Given the description of an element on the screen output the (x, y) to click on. 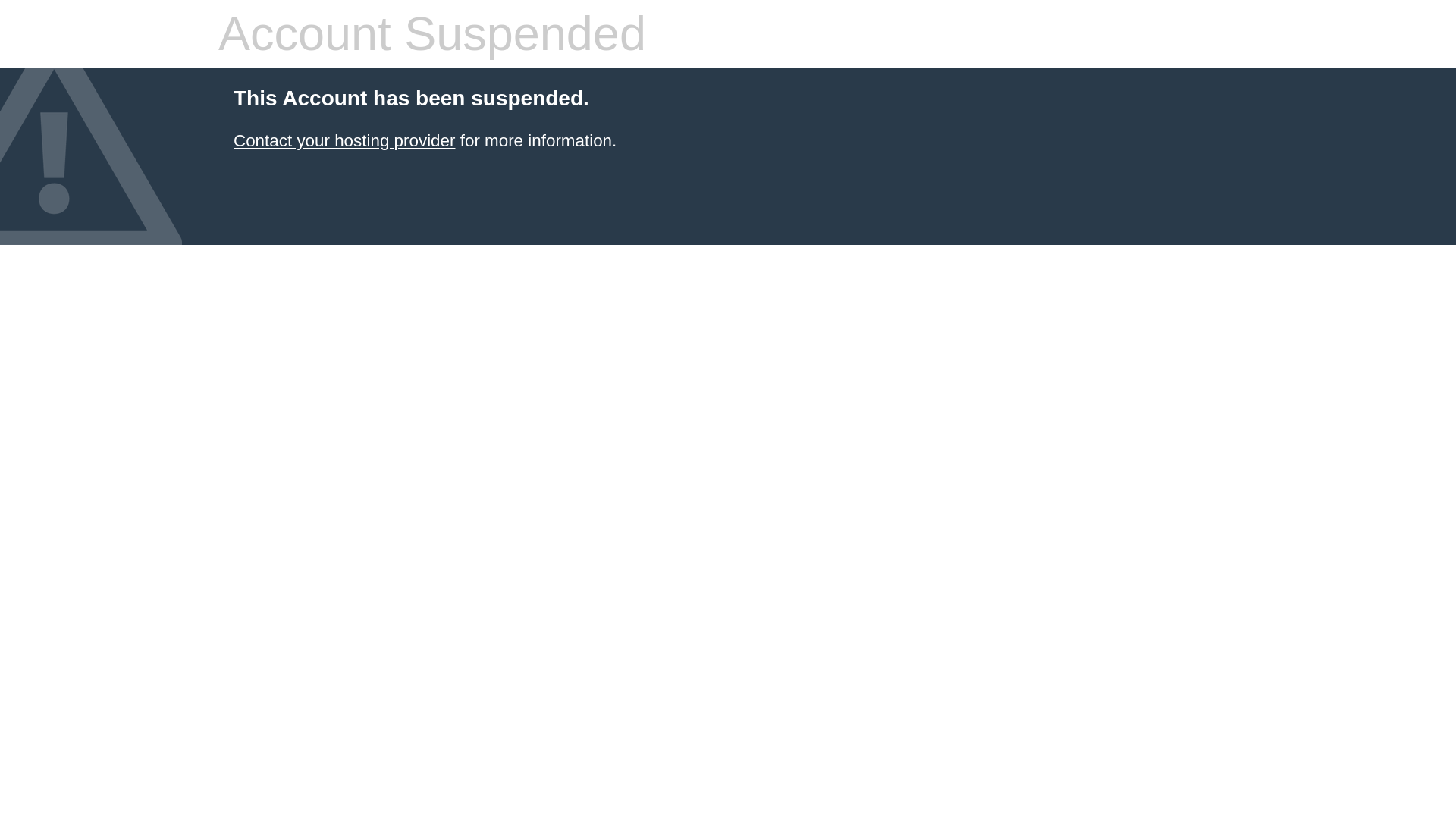
Contact your hosting provider (343, 140)
